Given the description of an element on the screen output the (x, y) to click on. 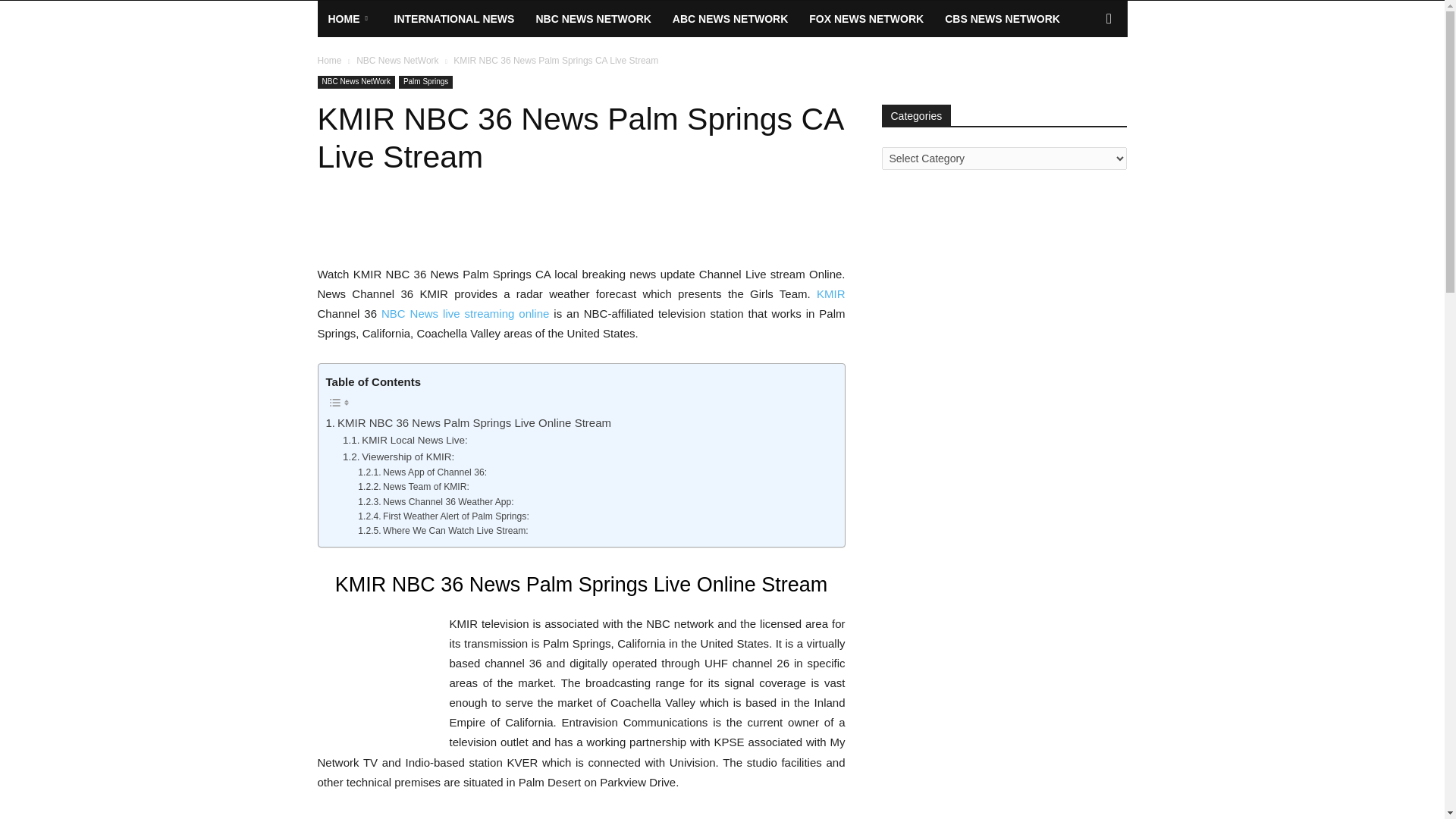
Home (328, 60)
KMIR NBC 36 News Palm Springs Live Online Stream (468, 423)
Where We Can Watch Live Stream: (442, 531)
First Weather Alert of Palm Springs: (443, 516)
News Channel 36 Weather App: (435, 502)
KMIR (830, 293)
KMIR Local News Live: (404, 440)
News Team of KMIR: (413, 486)
Search (1085, 79)
First Weather Alert of Palm Springs: (443, 516)
